Given the description of an element on the screen output the (x, y) to click on. 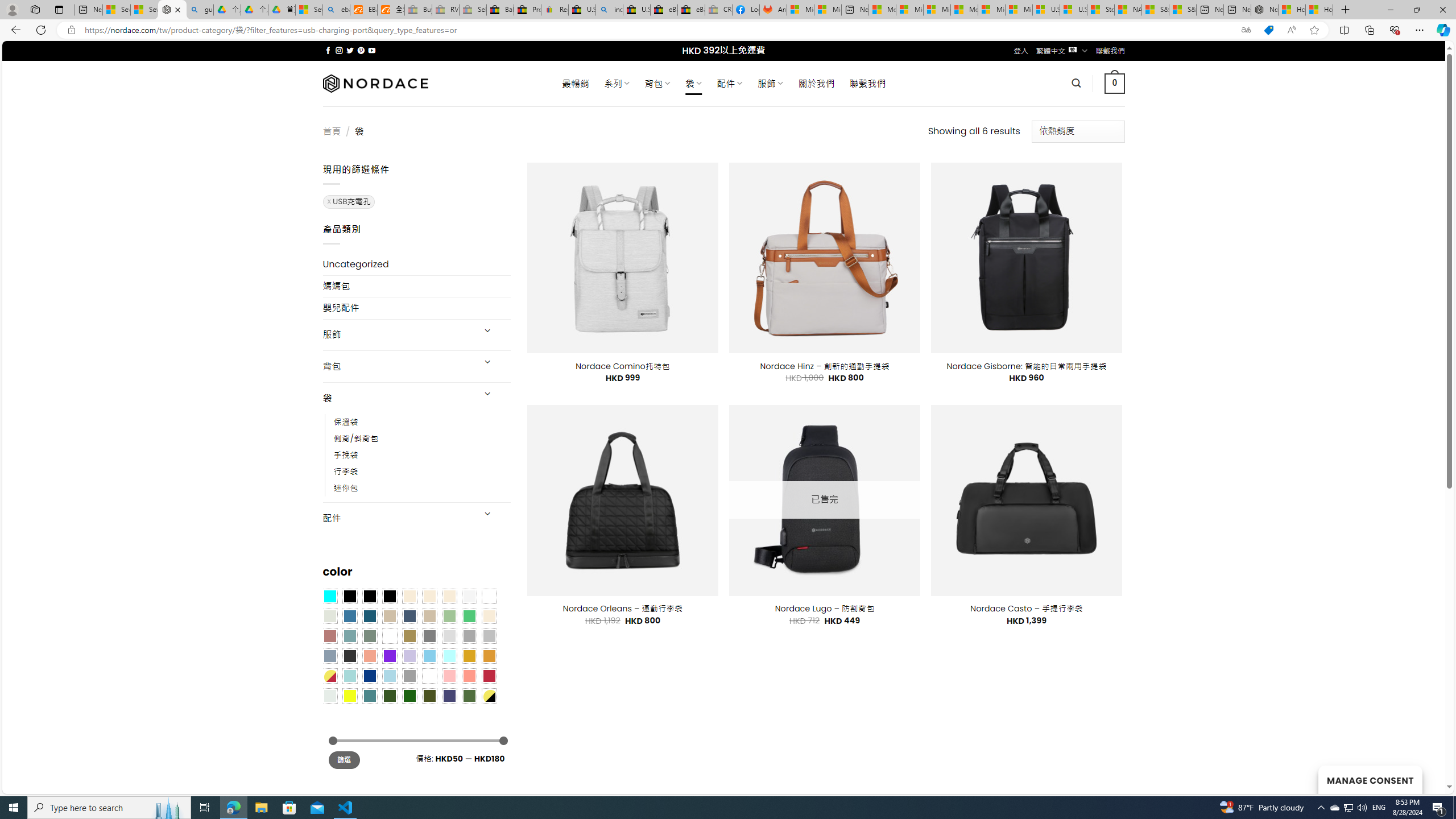
Press Room - eBay Inc. (527, 9)
